Given the description of an element on the screen output the (x, y) to click on. 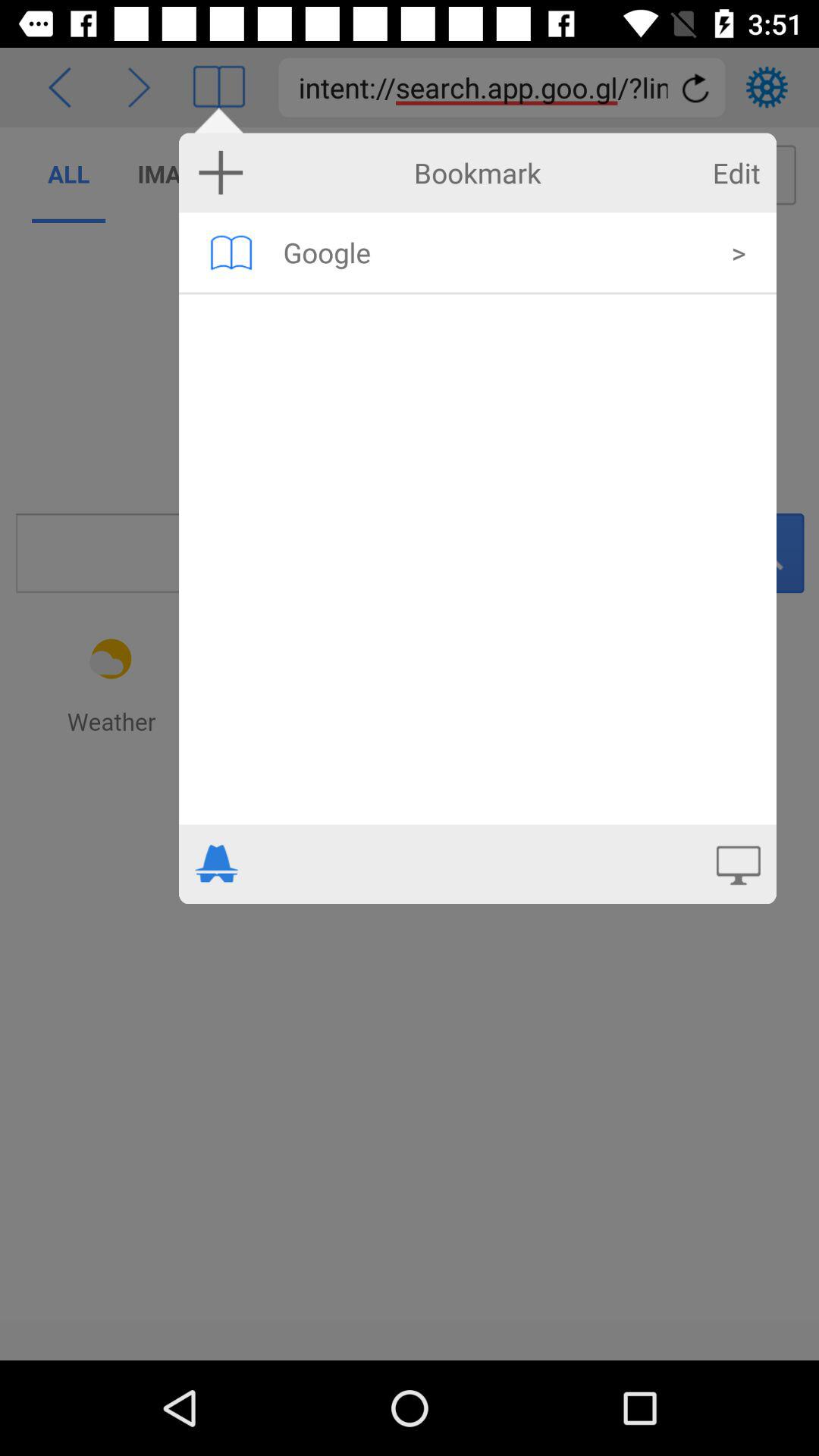
turn on icon below the edit icon (738, 252)
